Given the description of an element on the screen output the (x, y) to click on. 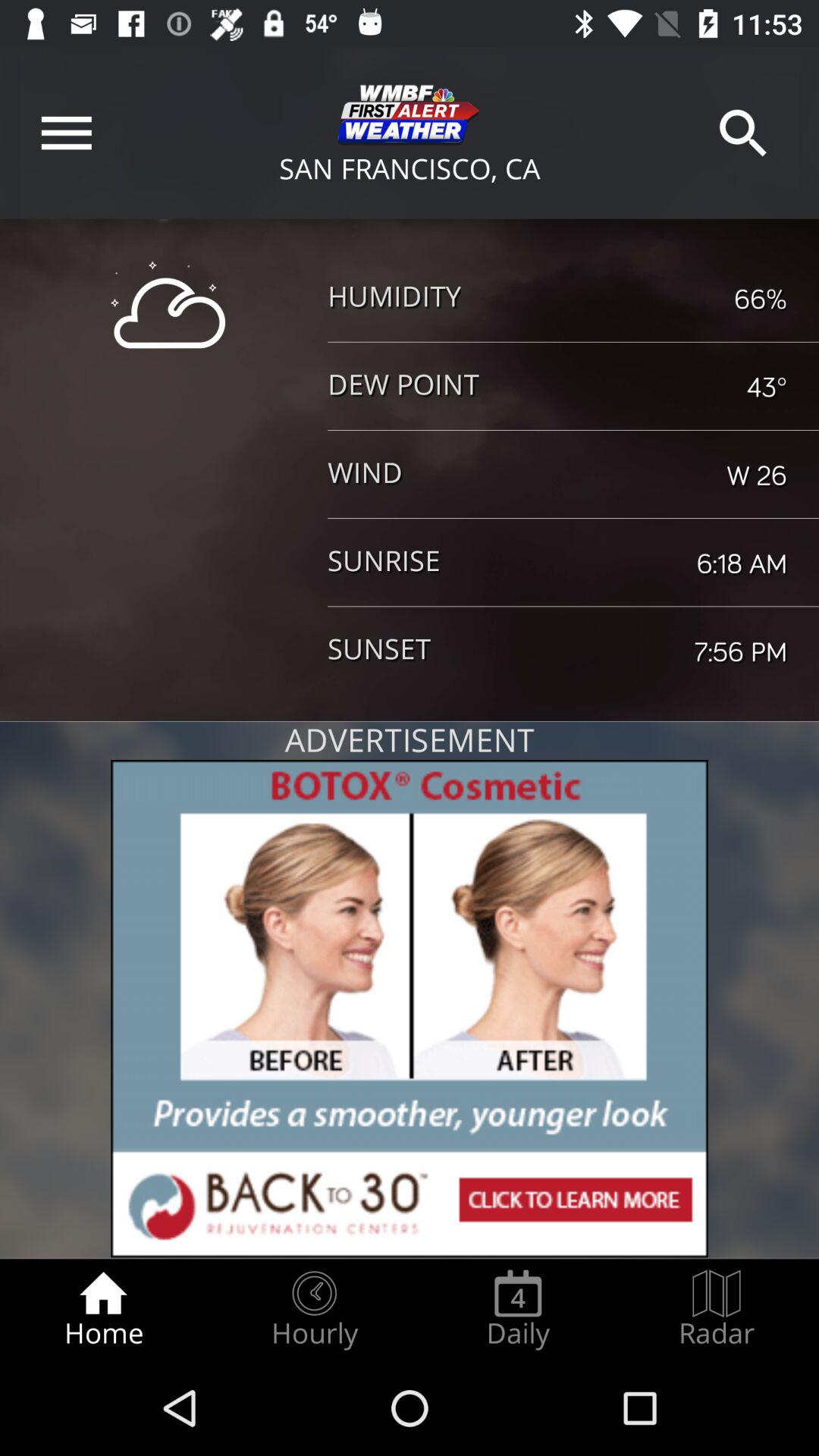
press item to the right of the daily item (716, 1309)
